Given the description of an element on the screen output the (x, y) to click on. 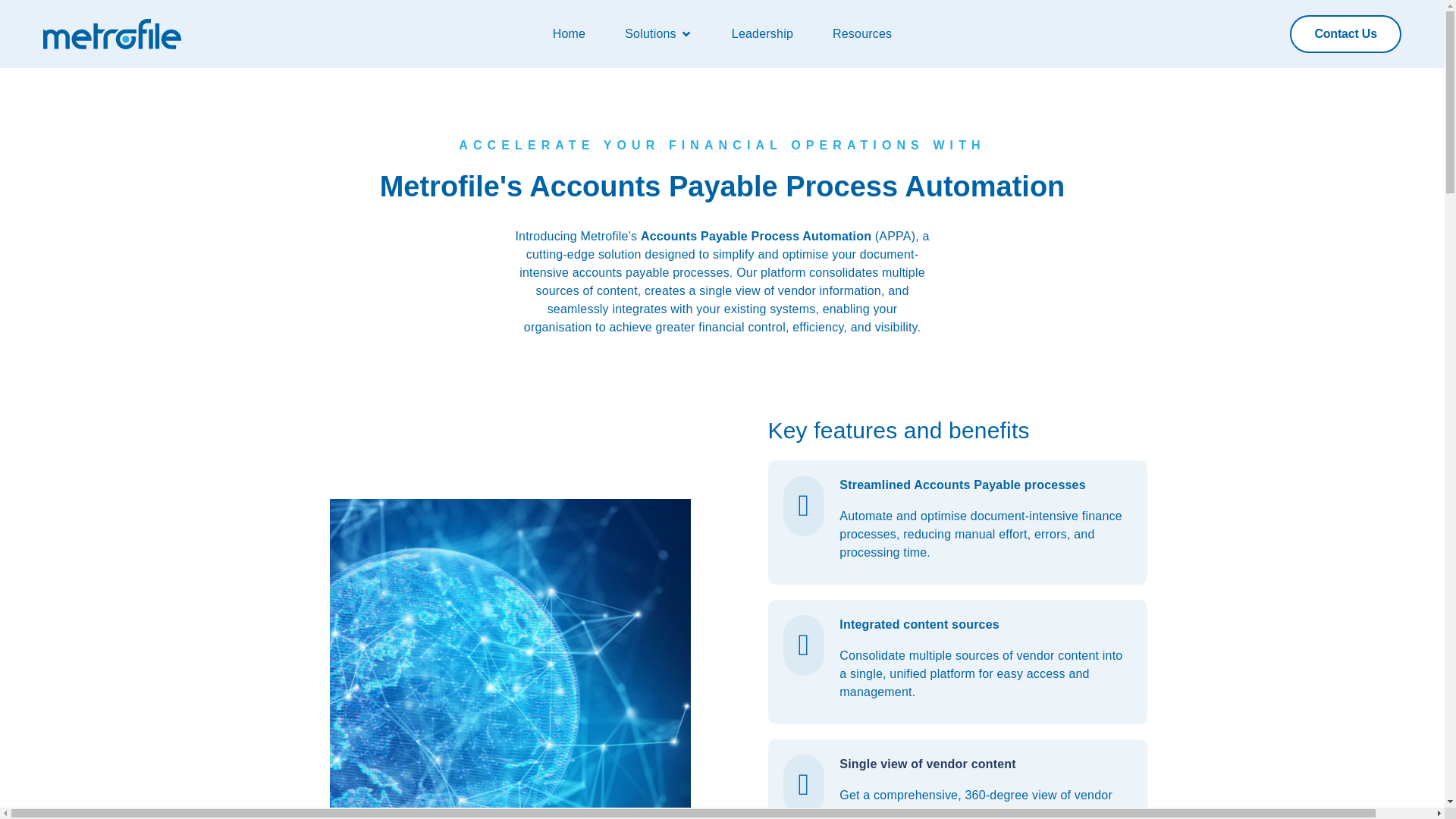
Home (569, 34)
Leadership (762, 34)
Contact Us (1345, 34)
Resources (861, 34)
